Given the description of an element on the screen output the (x, y) to click on. 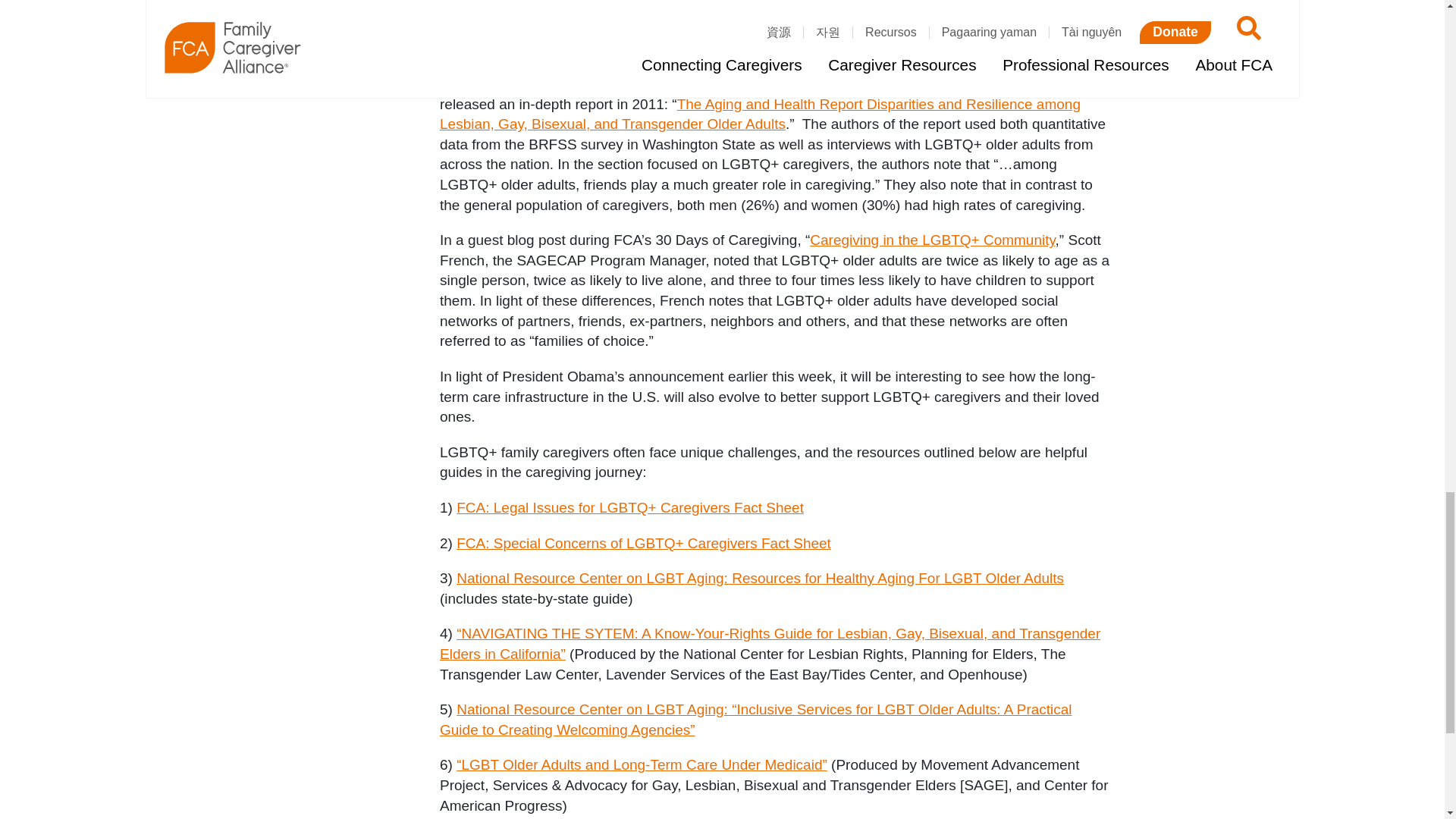
Special Concerns of LGBT Caregivers (644, 543)
Caring and Aging with Pride Project (581, 83)
Legal Issues for LGBT Caregivers (630, 507)
LGBT Older Adults and Long-Term Care Under Medicaid (642, 764)
Caregiving in the LGBT Community (931, 239)
